Given the description of an element on the screen output the (x, y) to click on. 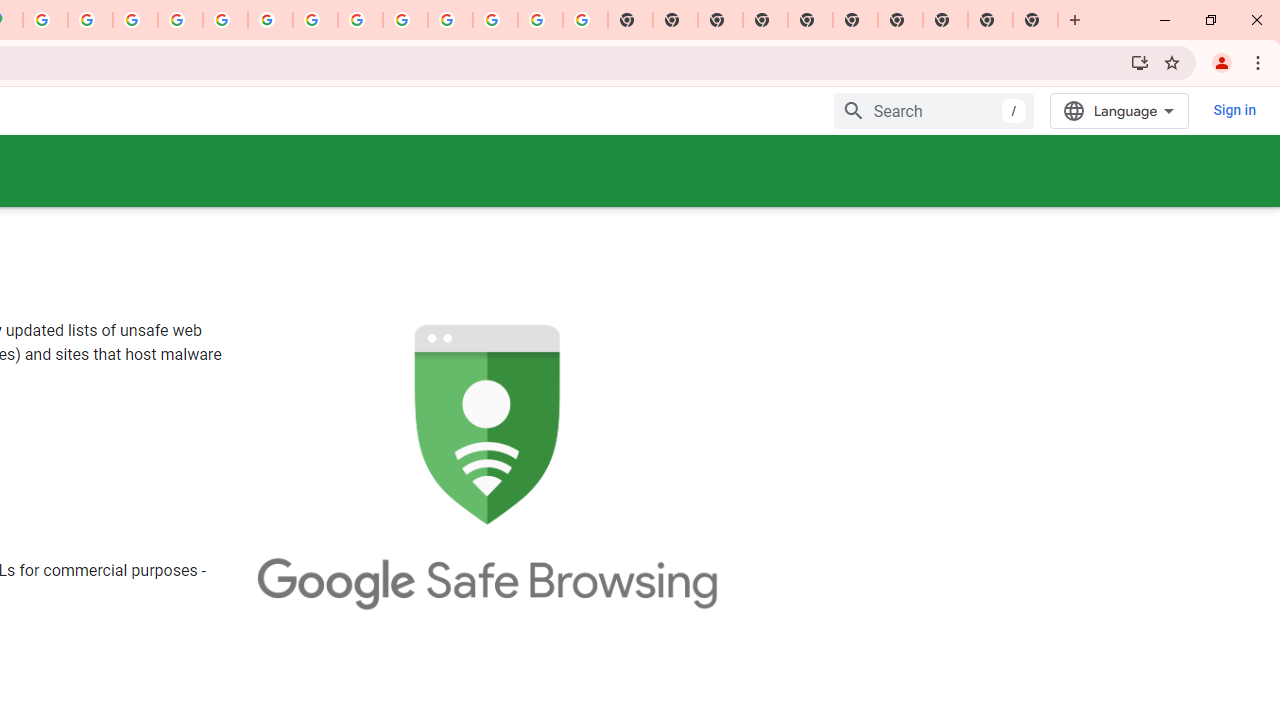
Browse Chrome as a guest - Computer - Google Chrome Help (359, 20)
Google Images (585, 20)
Search (933, 110)
Sign in - Google Accounts (45, 20)
New Tab (765, 20)
Privacy Help Center - Policies Help (180, 20)
